Given the description of an element on the screen output the (x, y) to click on. 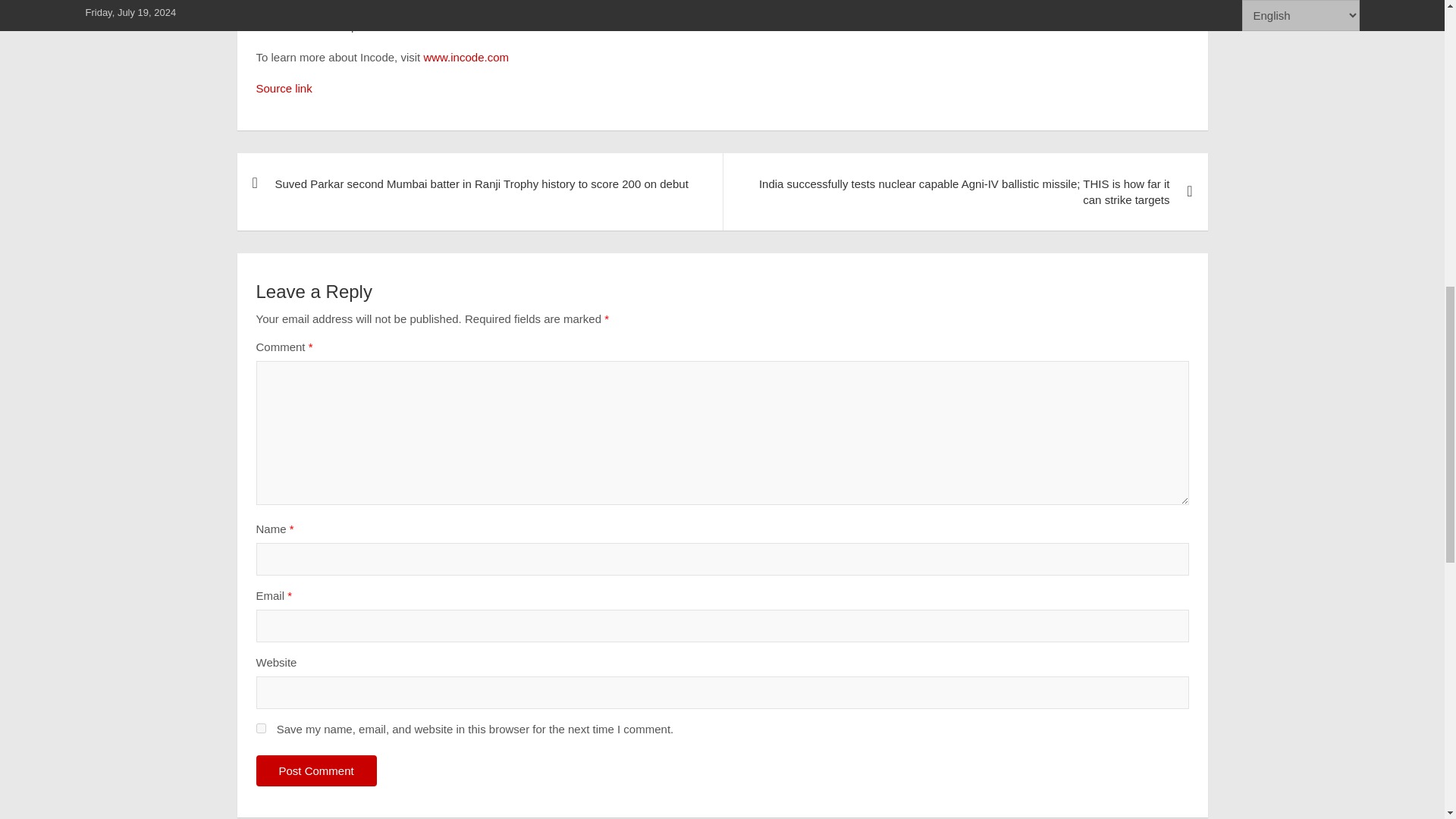
yes (261, 728)
Post Comment (316, 770)
Post Comment (316, 770)
Source link (284, 88)
www.incode.com (465, 56)
